Given the description of an element on the screen output the (x, y) to click on. 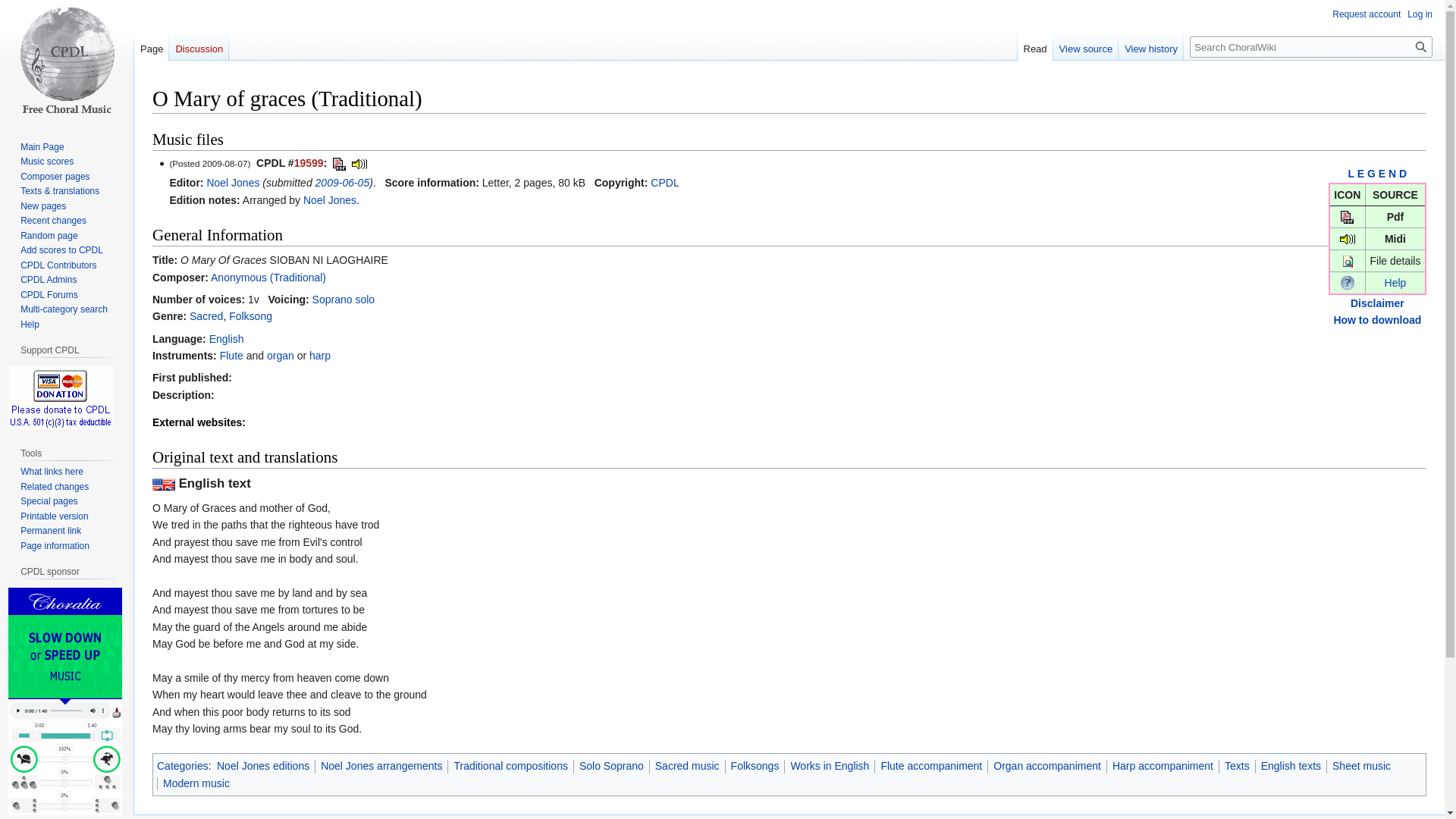
Omaryofgraces.mid (359, 162)
Search (1420, 46)
Traditional (268, 277)
organ (280, 355)
Category:Noel Jones arrangements (329, 200)
Sacred (205, 316)
Category:Sacred music (205, 316)
Soprano solo (344, 299)
Go (1420, 46)
Sacred music (687, 766)
Traditional compositions (509, 766)
Noel Jones editions (262, 766)
ChoralWiki:June 2009 scores (342, 182)
Solo Soprano (611, 766)
